Given the description of an element on the screen output the (x, y) to click on. 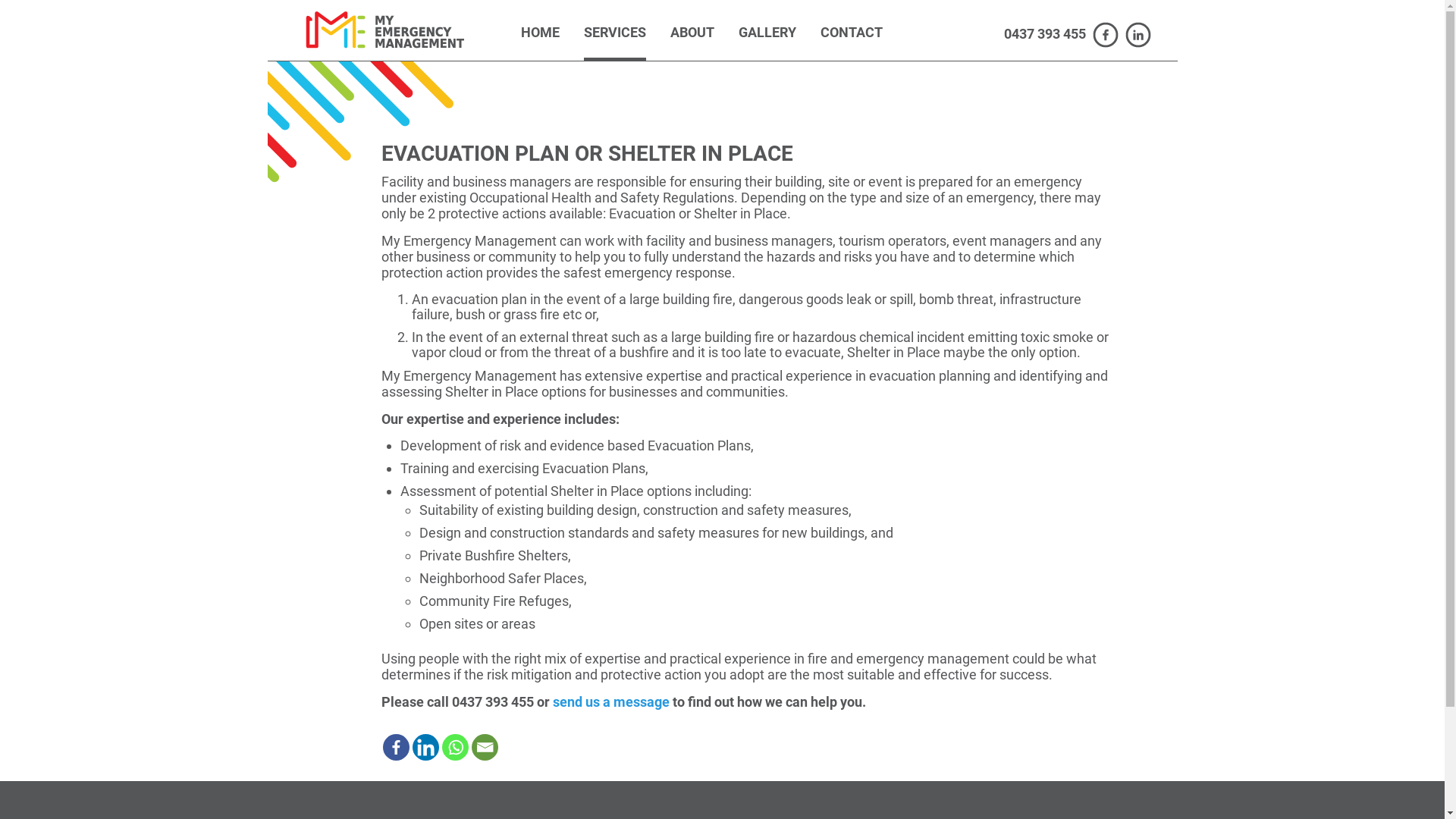
Email Element type: hover (484, 747)
send us a message Element type: text (610, 701)
HOME Element type: text (539, 41)
CONTACT Element type: text (851, 41)
Linkedin Element type: hover (425, 747)
GALLERY Element type: text (767, 41)
ABOUT Element type: text (692, 41)
SERVICES Element type: text (614, 41)
Whatsapp Element type: hover (454, 747)
Facebook Element type: hover (395, 747)
